Given the description of an element on the screen output the (x, y) to click on. 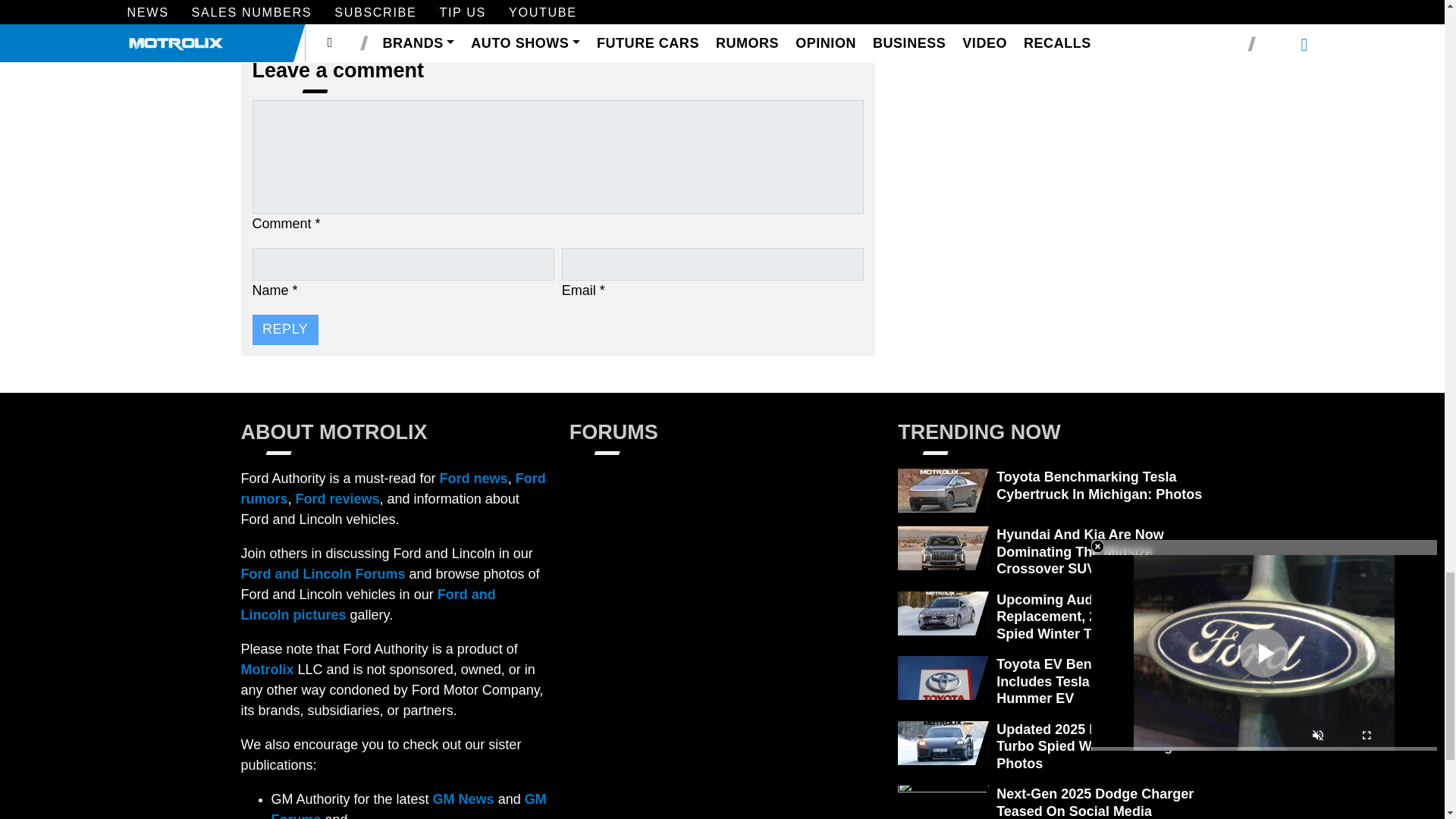
Reply (284, 329)
